Given the description of an element on the screen output the (x, y) to click on. 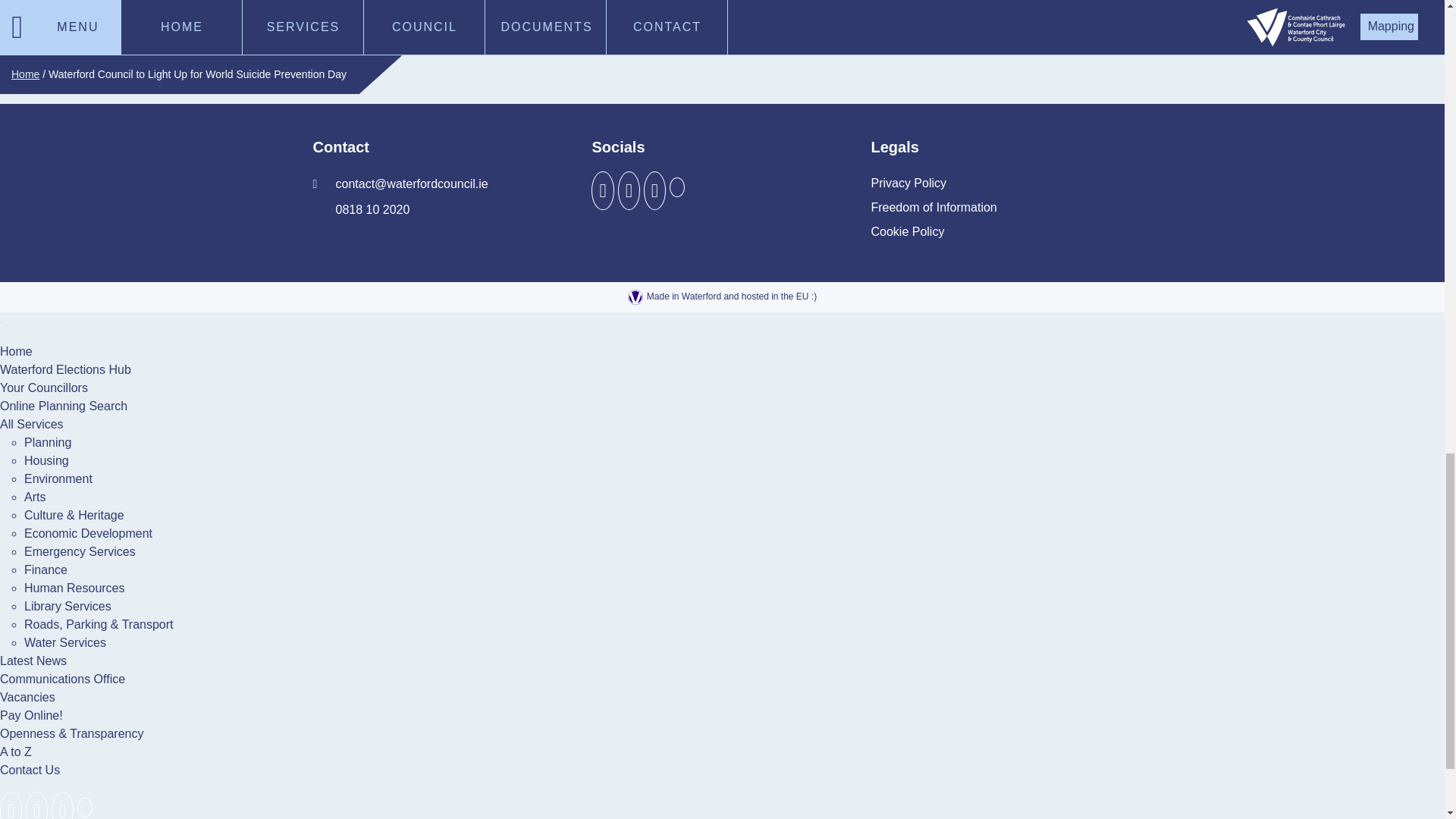
Freedom of Information (932, 207)
Cookie Policy (906, 232)
Privacy Policy (908, 183)
0818 10 2020 (361, 209)
